Given the description of an element on the screen output the (x, y) to click on. 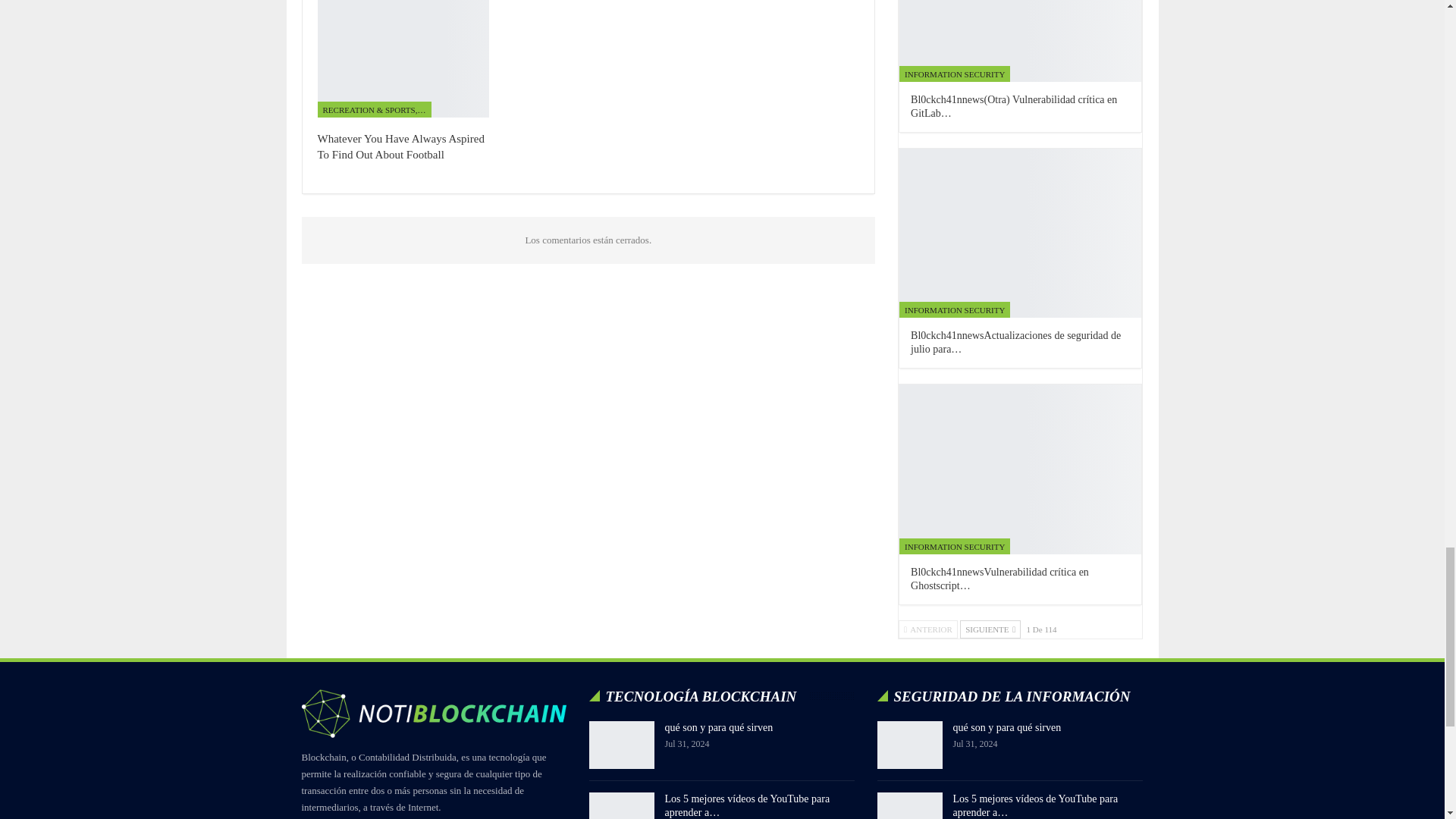
Whatever You Have Always Aspired To Find Out About Football (402, 58)
Whatever You Have Always Aspired To Find Out About Football (400, 146)
